Given the description of an element on the screen output the (x, y) to click on. 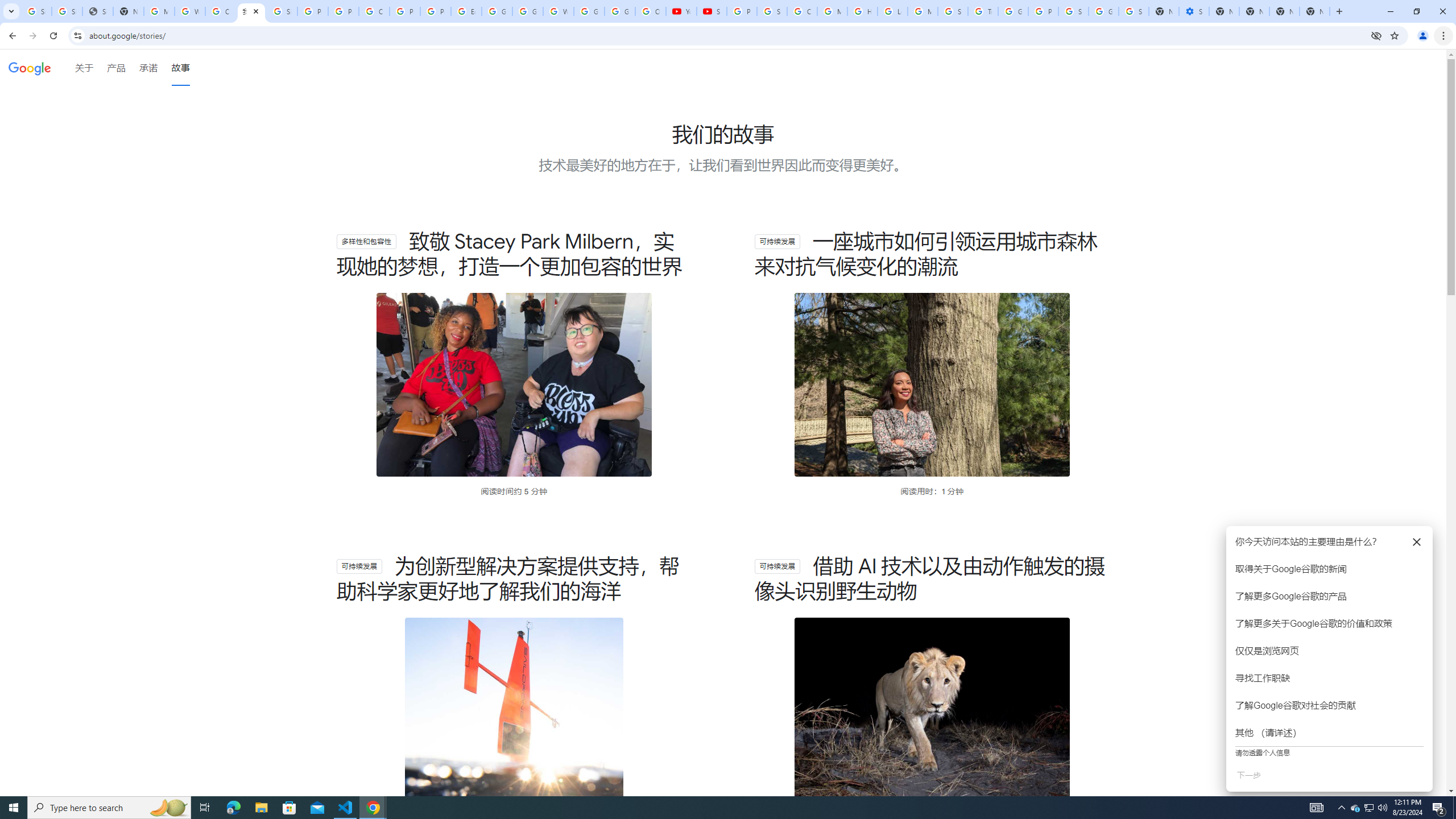
Sign in - Google Accounts (282, 11)
Sign in - Google Accounts (771, 11)
New Tab (1314, 11)
